Given the description of an element on the screen output the (x, y) to click on. 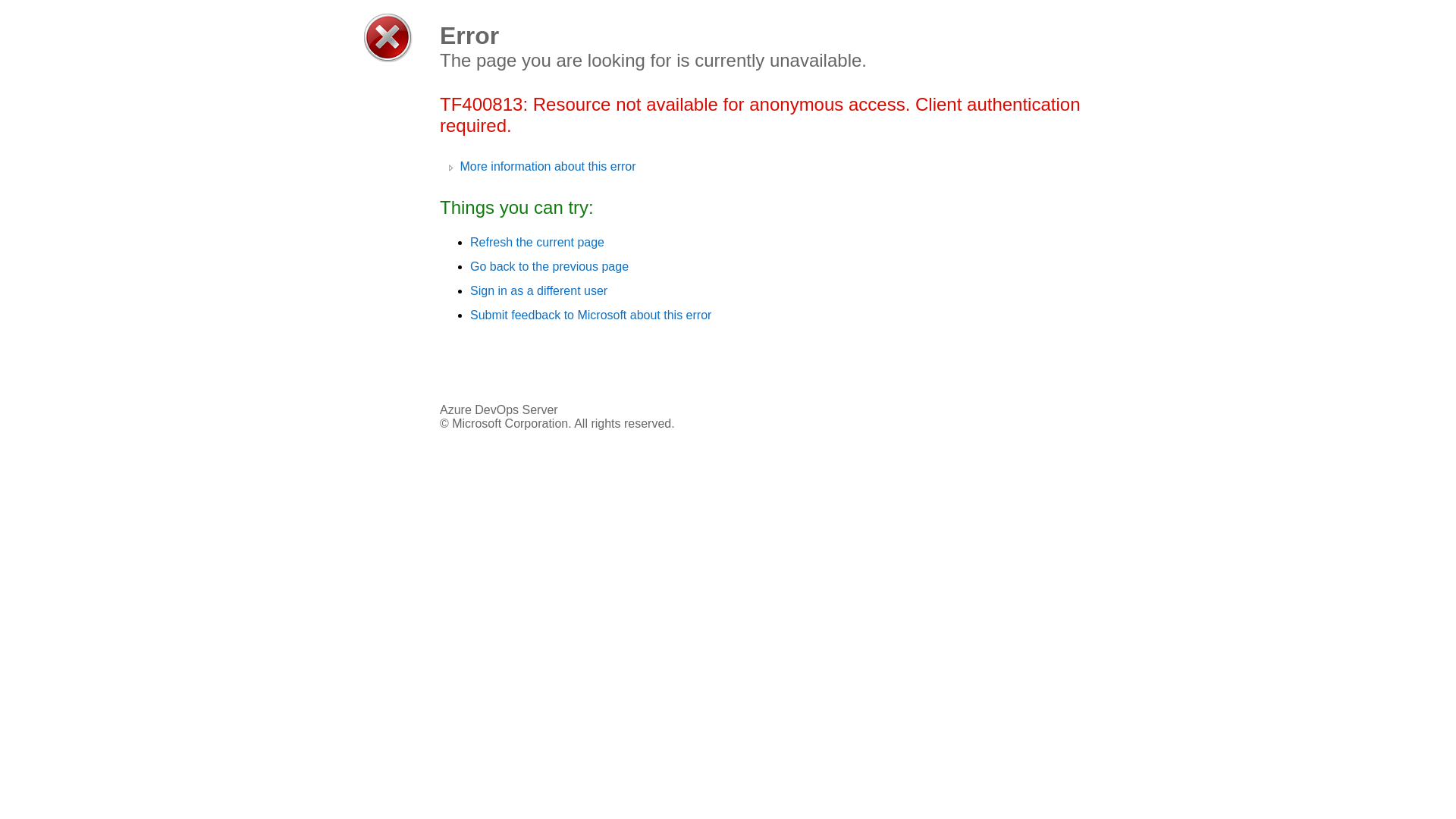
Submit feedback to Microsoft about this error Element type: text (590, 314)
Sign in as a different user Element type: text (538, 290)
Refresh the current page Element type: text (537, 241)
Go back to the previous page Element type: text (549, 266)
More information about this error Element type: text (539, 166)
